Given the description of an element on the screen output the (x, y) to click on. 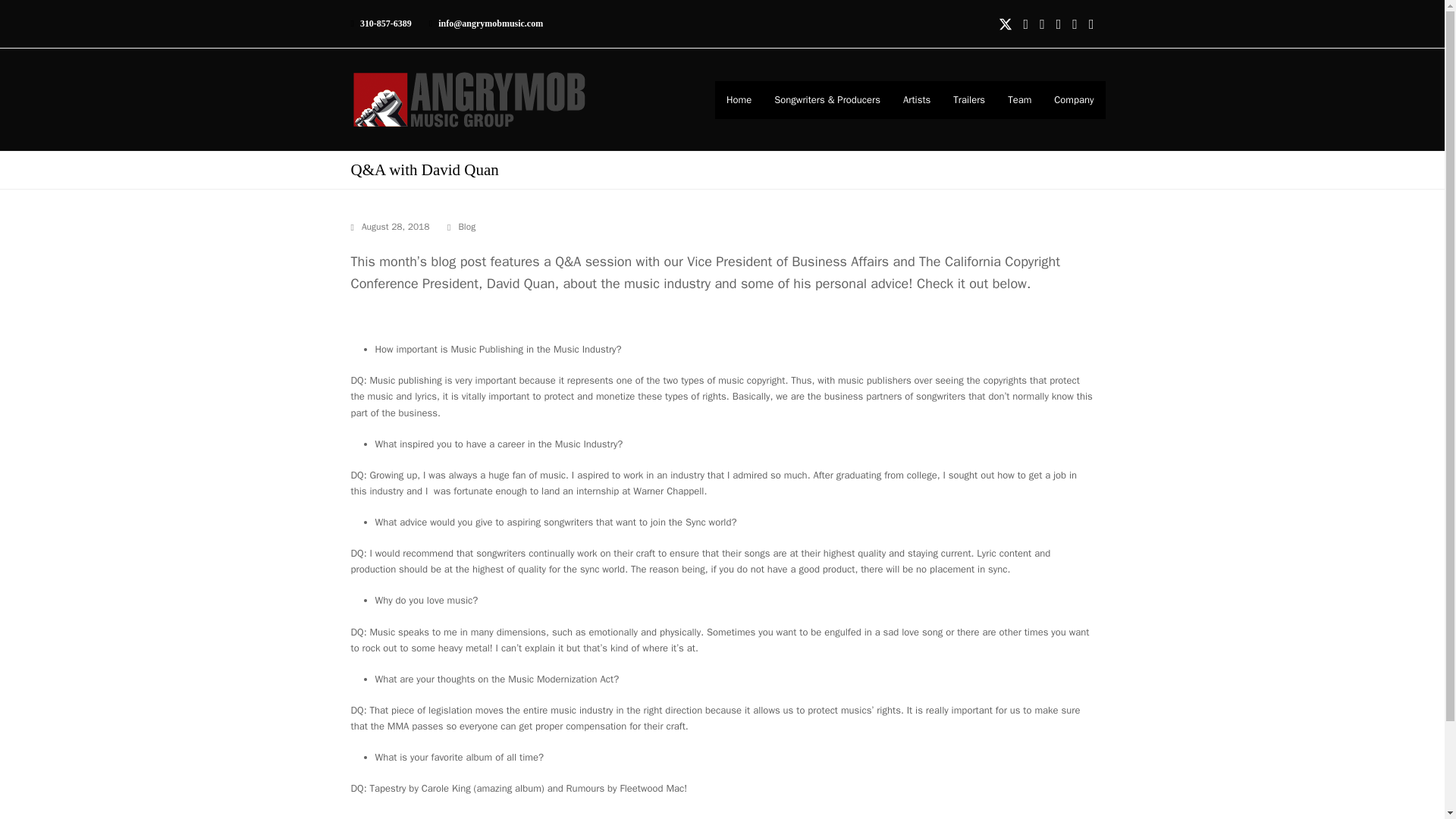
Home (738, 99)
Artists (916, 99)
Home (738, 99)
Team (1018, 99)
Company (1073, 99)
Trailers (968, 99)
Blog (467, 226)
